Given the description of an element on the screen output the (x, y) to click on. 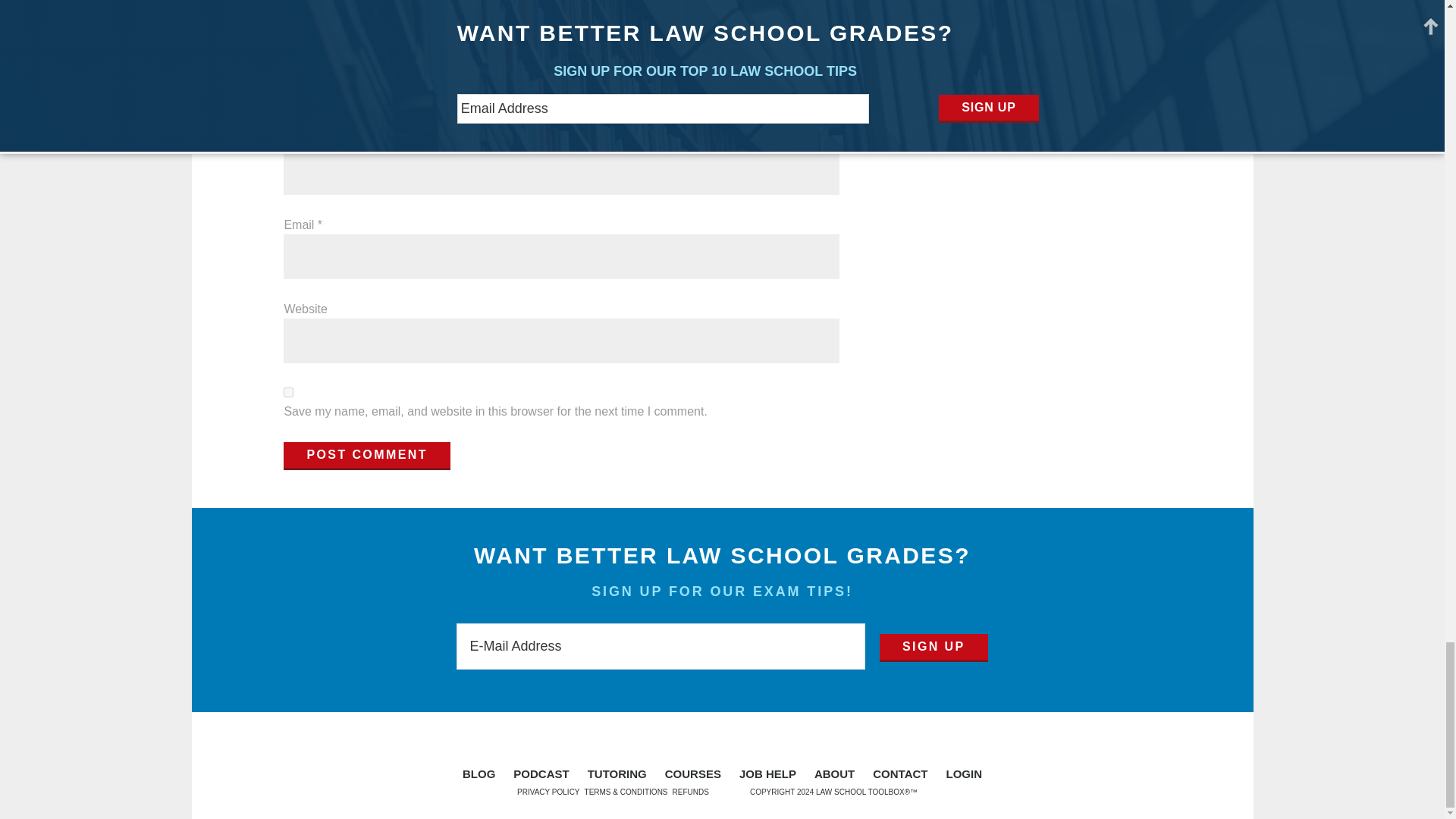
yes (288, 391)
Sign Up (933, 647)
Post Comment (366, 455)
